Given the description of an element on the screen output the (x, y) to click on. 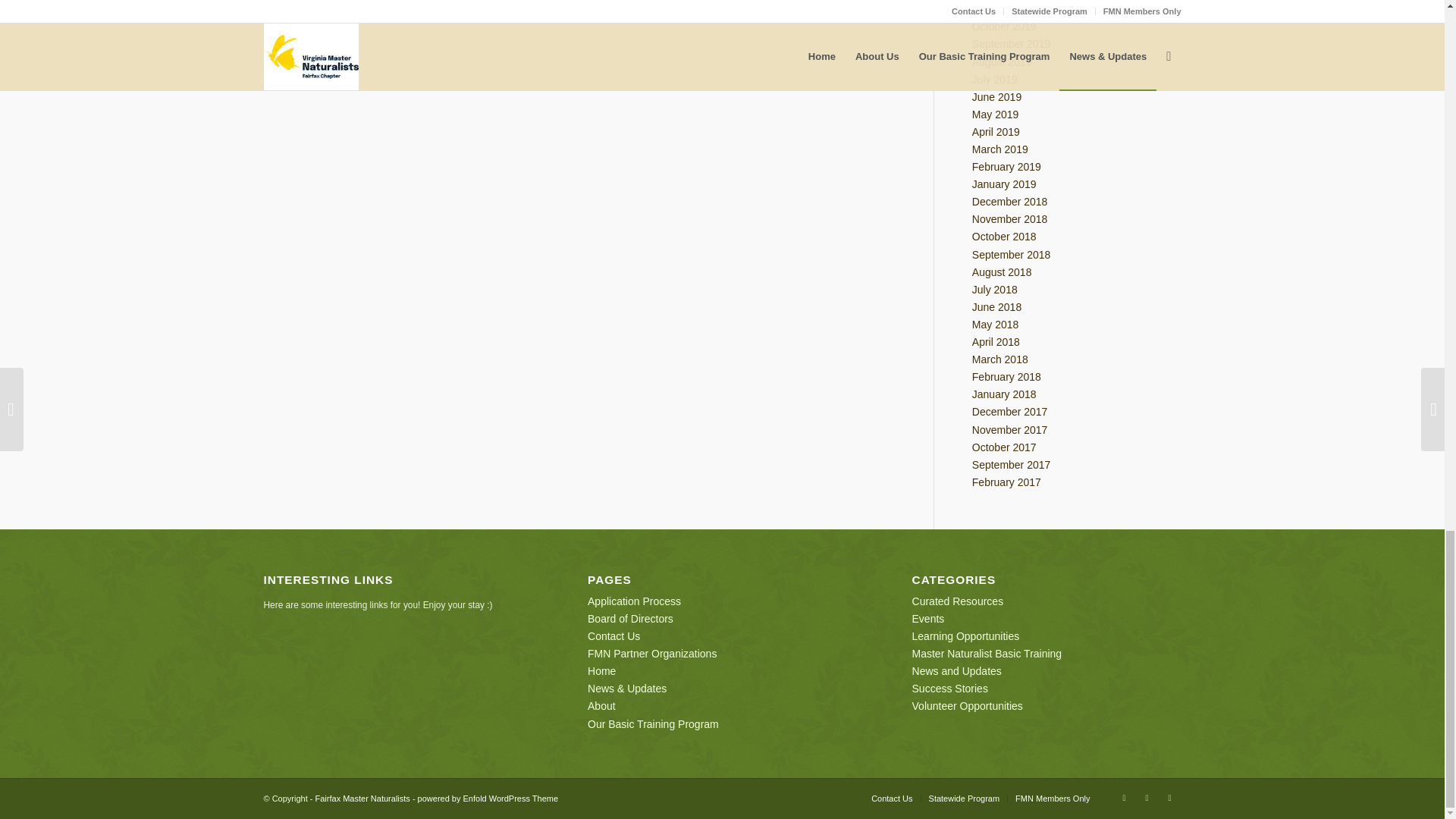
Twitter (1146, 797)
Facebook (1124, 797)
Instagram (1169, 797)
